Given the description of an element on the screen output the (x, y) to click on. 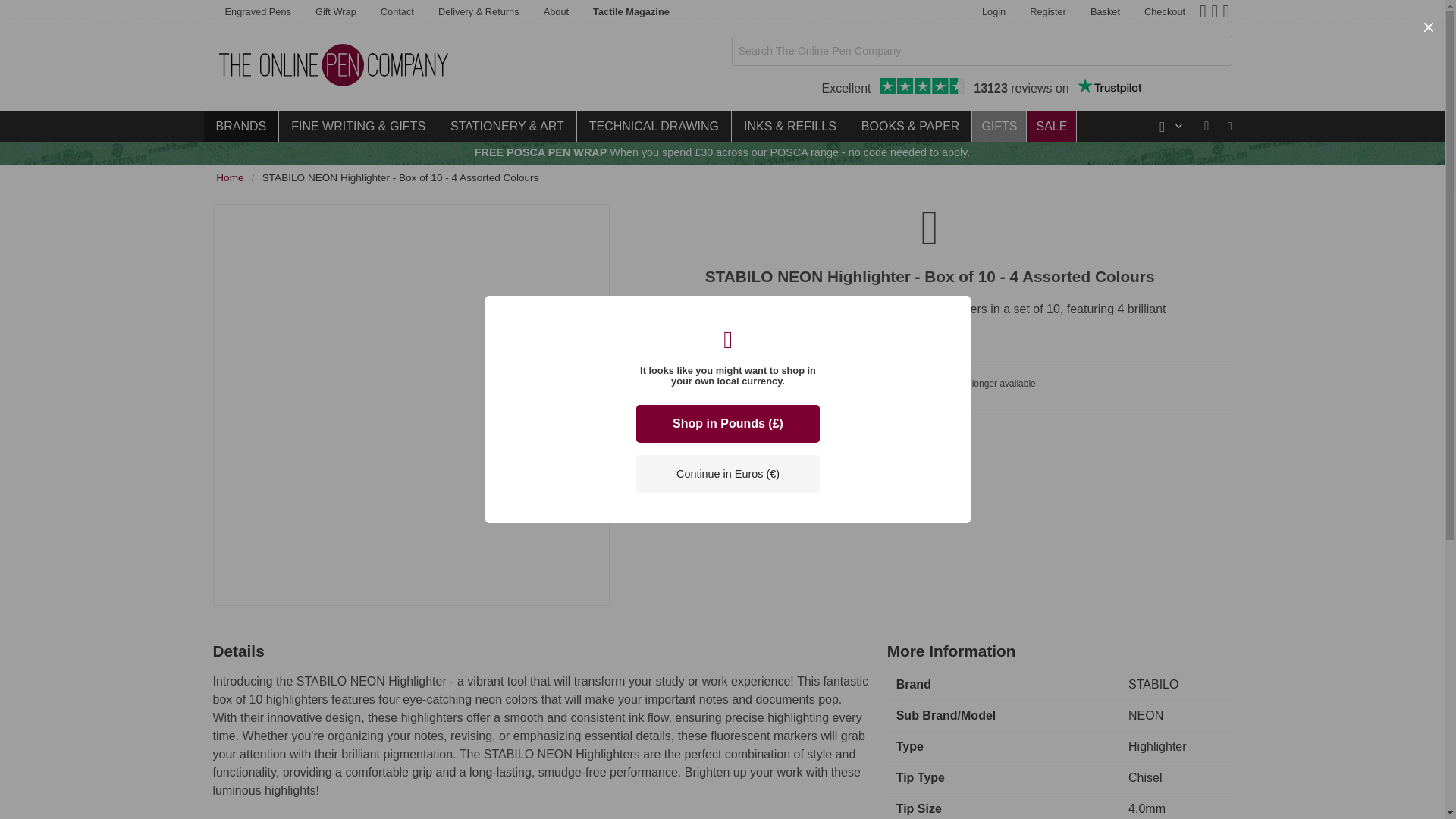
Login (993, 11)
BRANDS (240, 126)
Gift Wrap (335, 11)
About (555, 11)
Basket (1105, 11)
Contact (397, 11)
Engraved Pens (257, 11)
Checkout (980, 88)
Trustpilot (1164, 11)
Register (1109, 85)
Tactile Magazine (1047, 11)
